Given the description of an element on the screen output the (x, y) to click on. 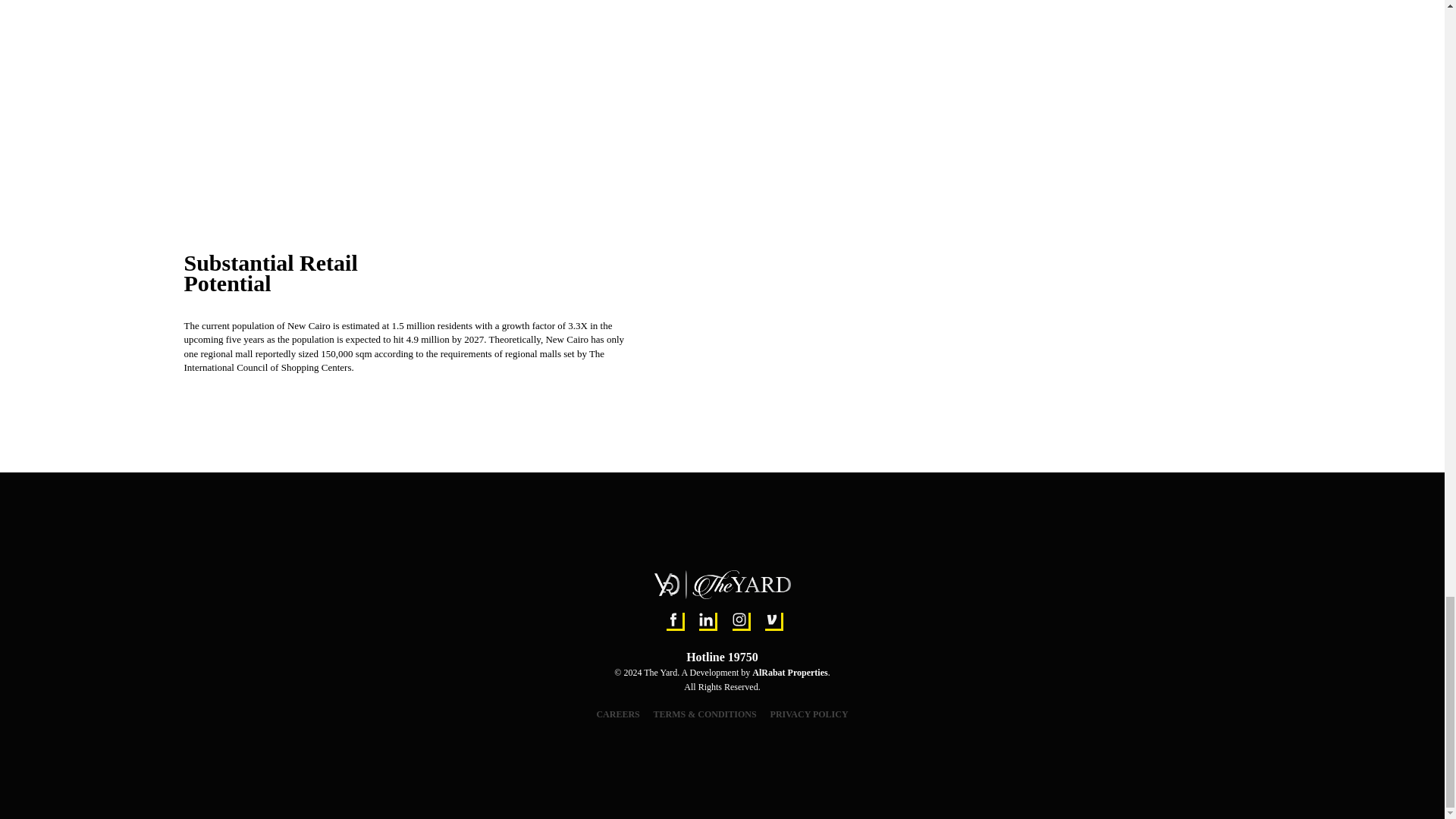
CAREERS (617, 714)
PRIVACY POLICY (809, 714)
AlRabat Properties (789, 672)
